Given the description of an element on the screen output the (x, y) to click on. 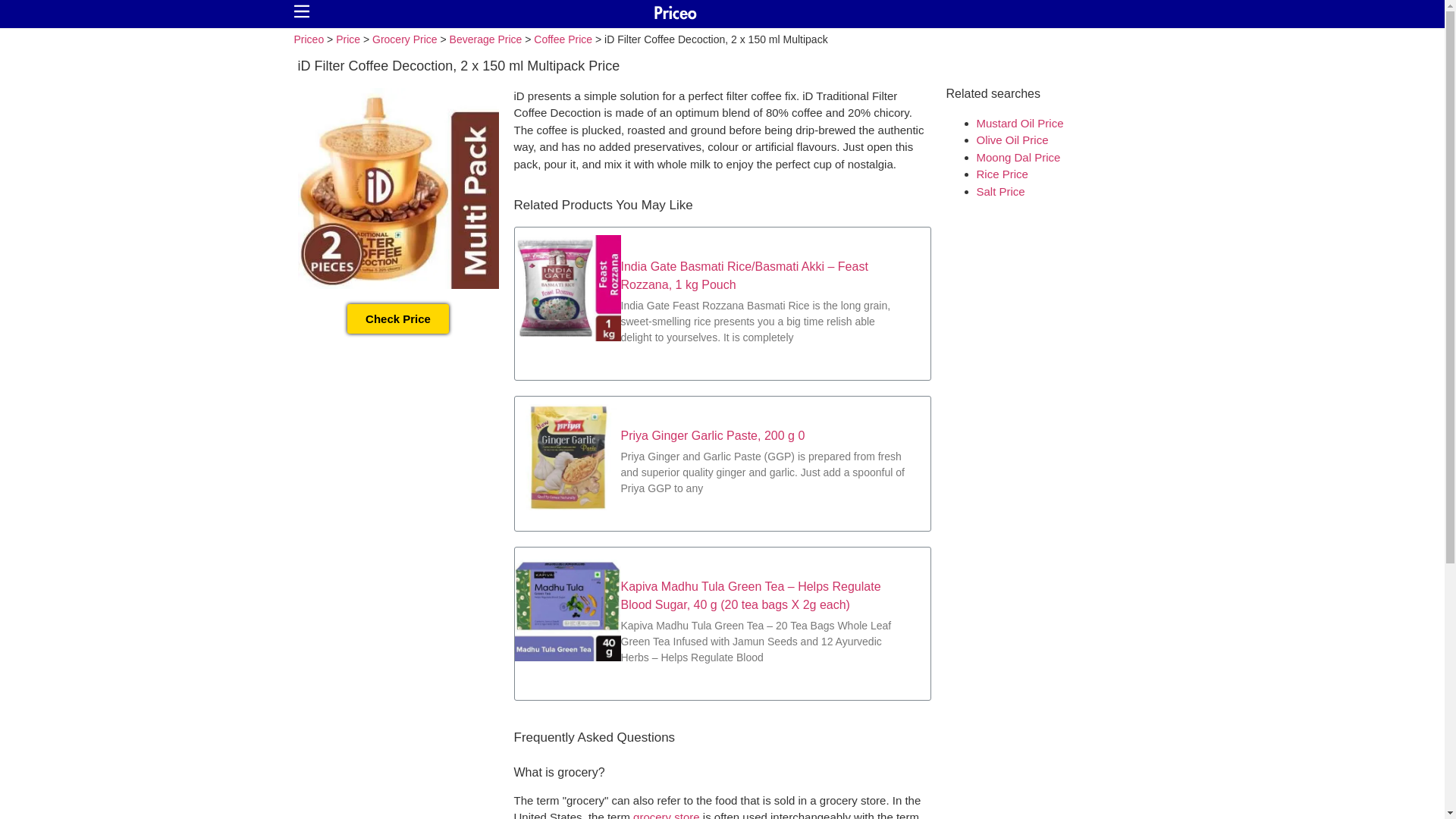
Priya Ginger Garlic Paste, 200 g 0 (712, 435)
Coffee Price (563, 39)
Rice Price (1001, 173)
Salt Price (1000, 191)
grocery store (666, 814)
Grocery Price (405, 39)
Price (347, 39)
Mustard Oil Price (1020, 123)
Check Price (397, 317)
Olive Oil Price (1012, 139)
